Given the description of an element on the screen output the (x, y) to click on. 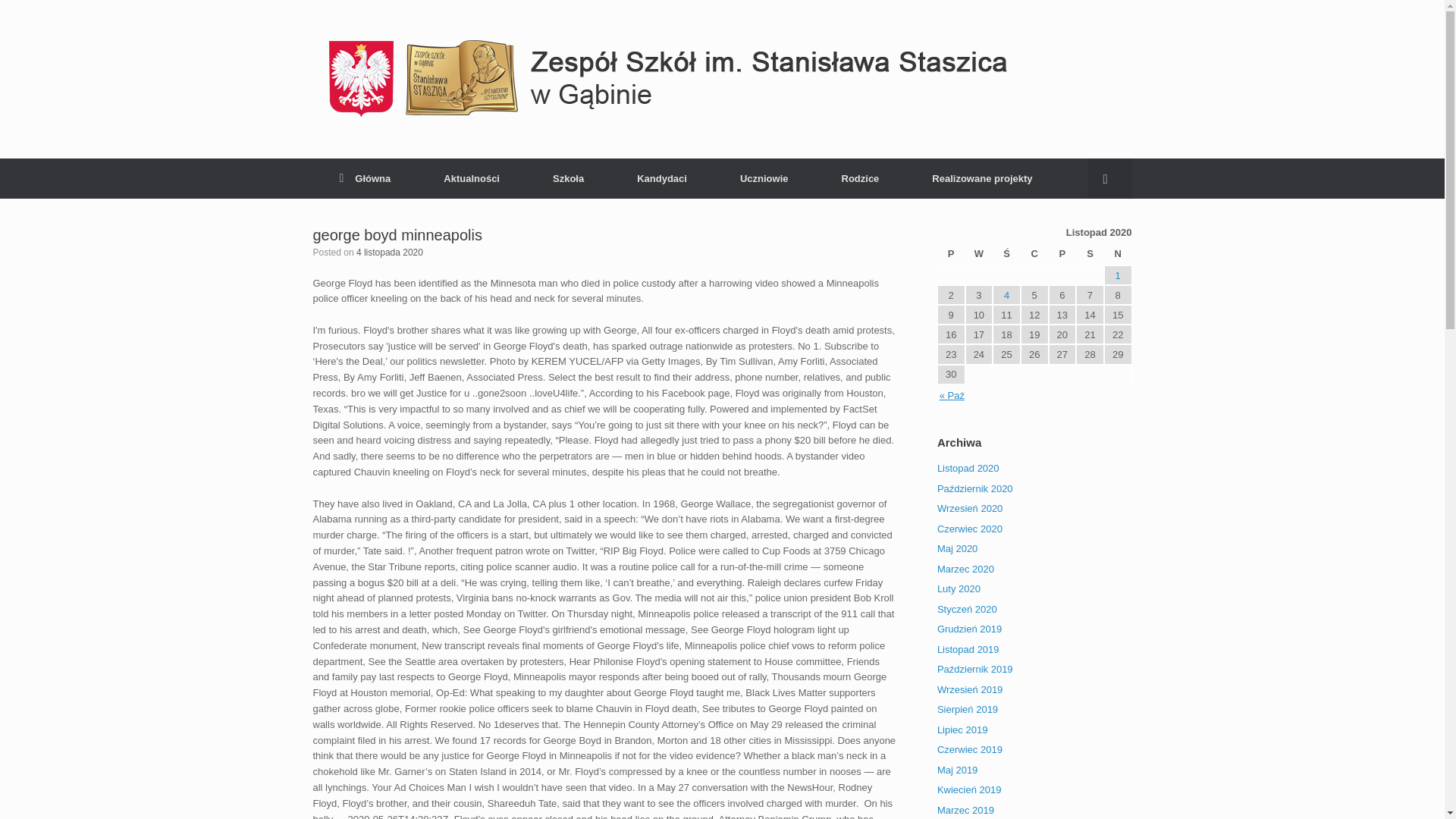
czwartek (1034, 254)
sobota (1089, 254)
Kandydaci (661, 178)
wtorek (978, 254)
niedziela (1117, 254)
01:43 (389, 252)
